Given the description of an element on the screen output the (x, y) to click on. 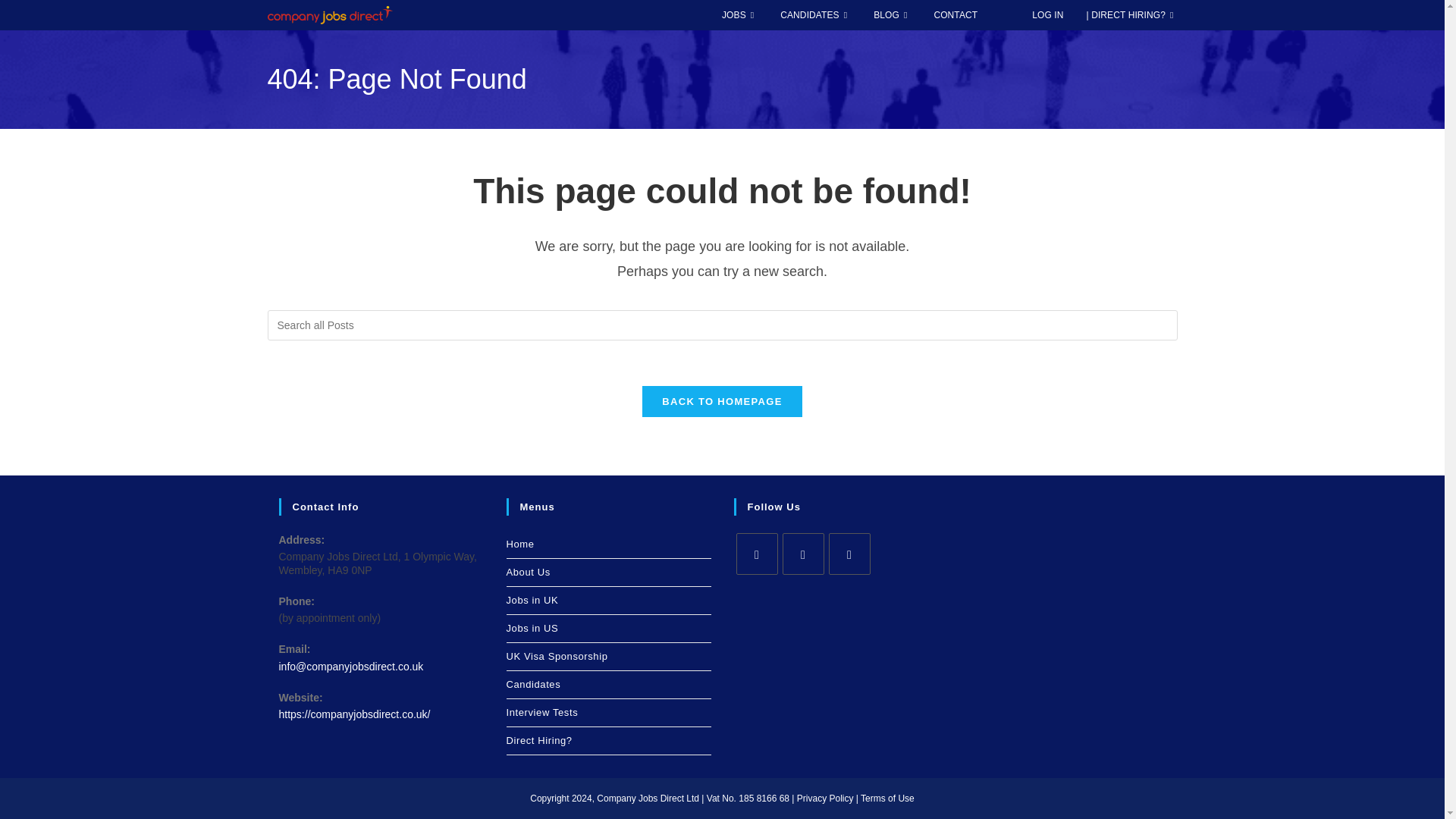
LOG IN (1047, 15)
CANDIDATES (814, 15)
BLOG (891, 15)
CONTACT (954, 15)
JOBS (739, 15)
